Given the description of an element on the screen output the (x, y) to click on. 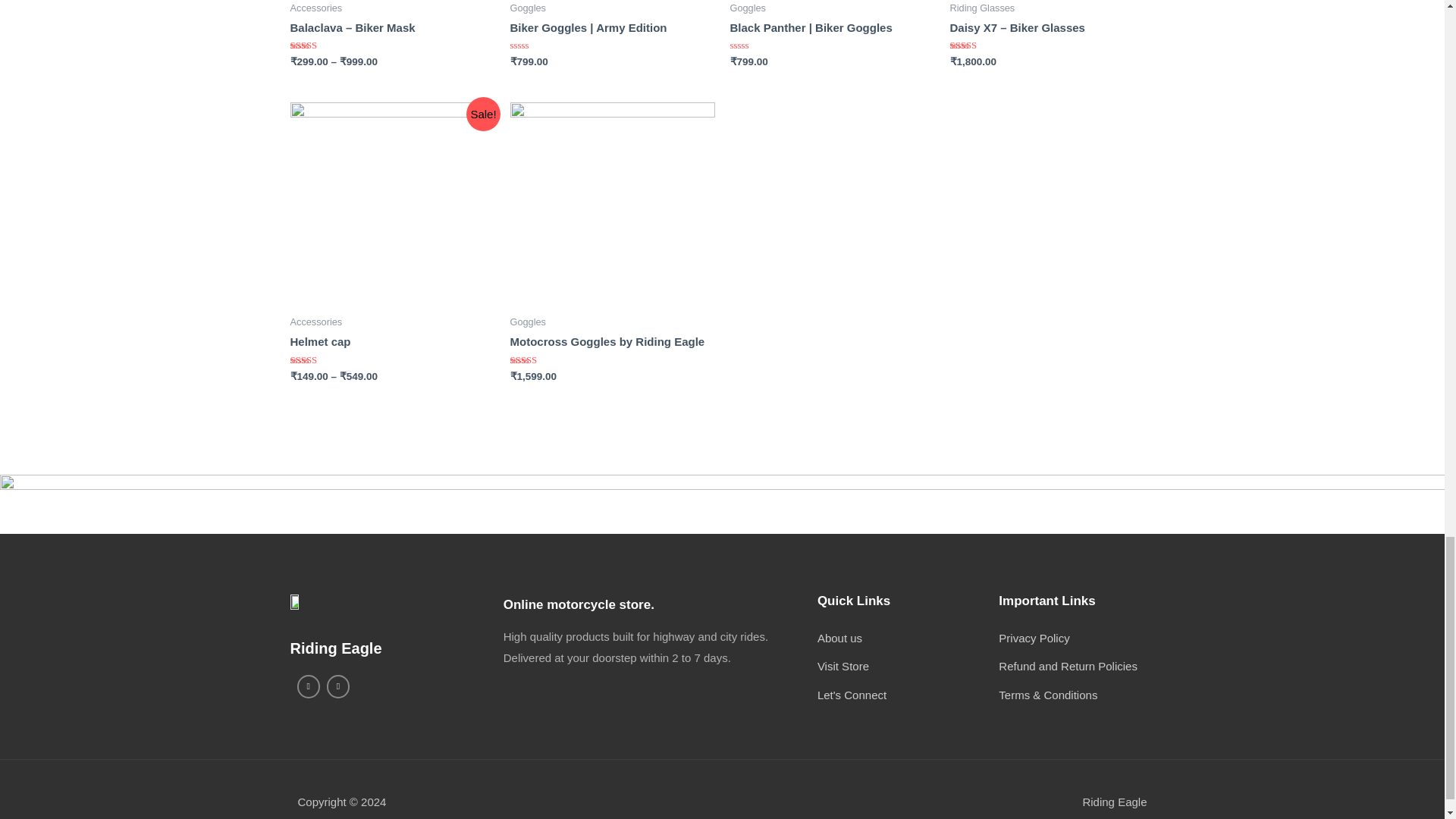
Privacy Policy (1076, 638)
Helmet cap (392, 341)
Motocross Goggles by Riding Eagle (611, 341)
About us (907, 638)
Visit Store (907, 666)
Refund and Return Policies (1076, 666)
Let's Connect (907, 694)
